Given the description of an element on the screen output the (x, y) to click on. 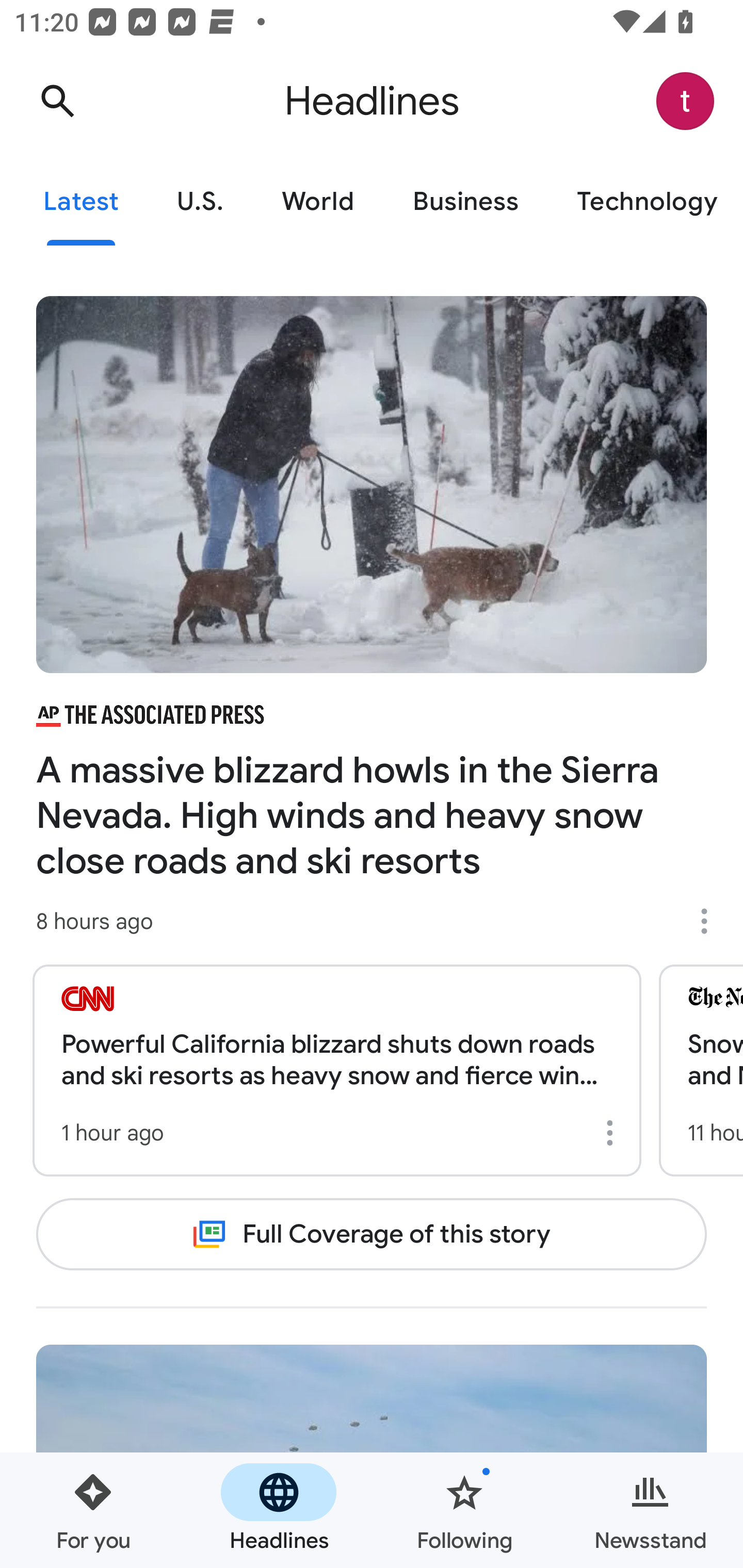
Search (57, 100)
U.S. (199, 202)
World (317, 202)
Business (465, 202)
Technology (645, 202)
More options (711, 921)
More options (613, 1132)
Full Coverage of this story (371, 1233)
For you (92, 1509)
Headlines (278, 1509)
Following (464, 1509)
Newsstand (650, 1509)
